Given the description of an element on the screen output the (x, y) to click on. 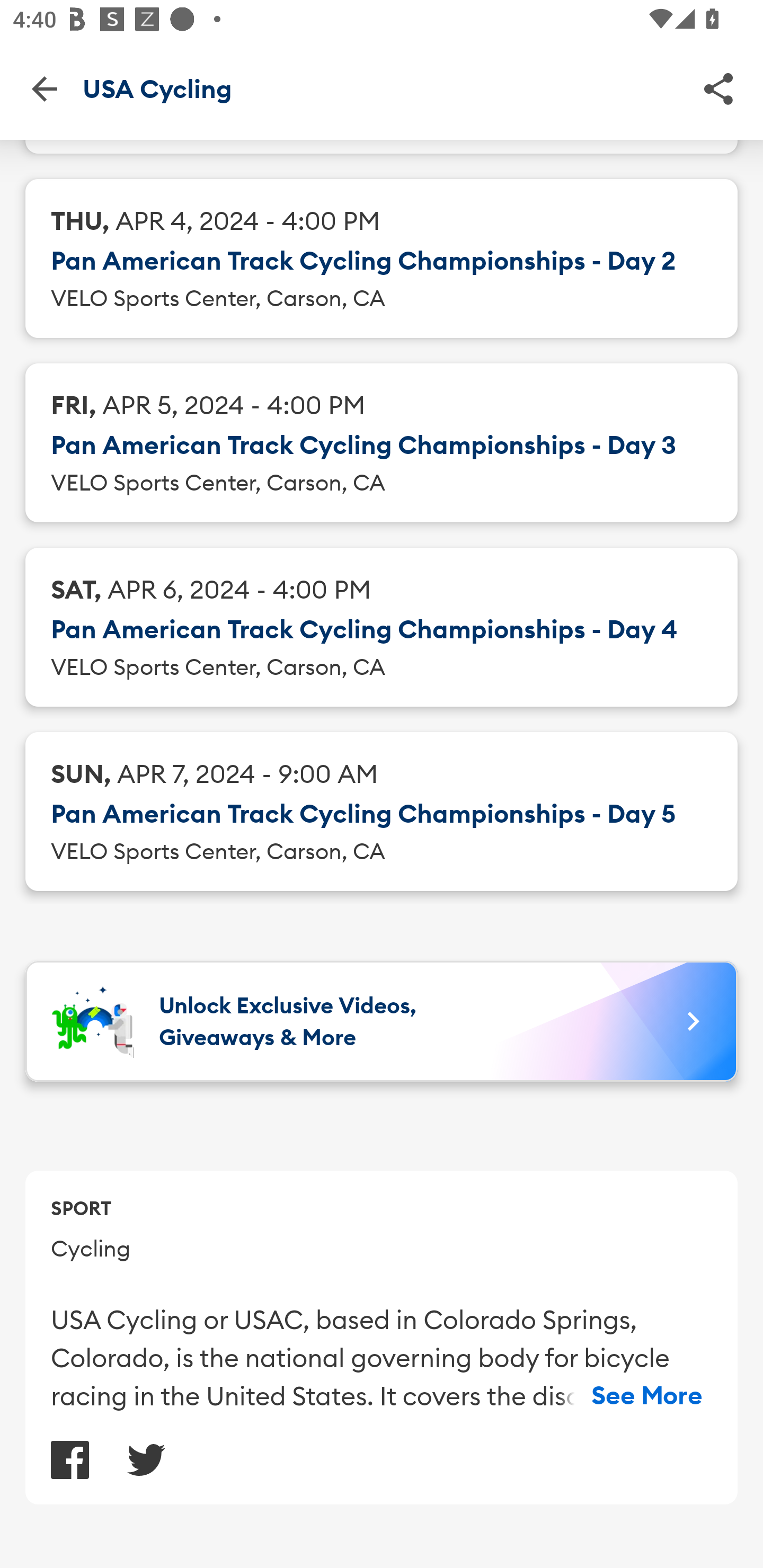
BackButton (44, 88)
Share (718, 88)
Unlock Exclusive Videos,
Giveaways & More (381, 1021)
See More (646, 1395)
